Given the description of an element on the screen output the (x, y) to click on. 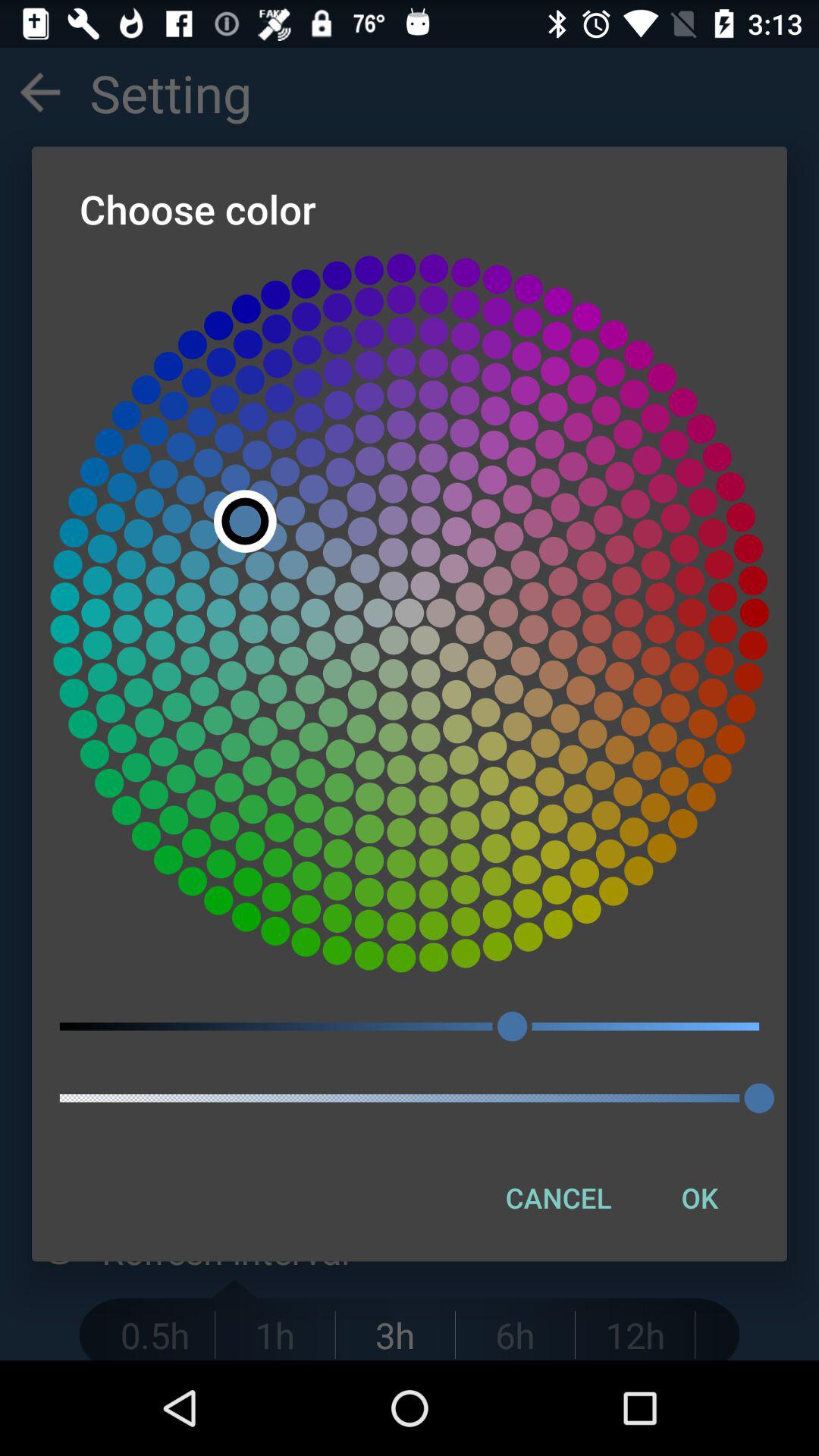
choose the icon to the left of ok icon (558, 1197)
